Given the description of an element on the screen output the (x, y) to click on. 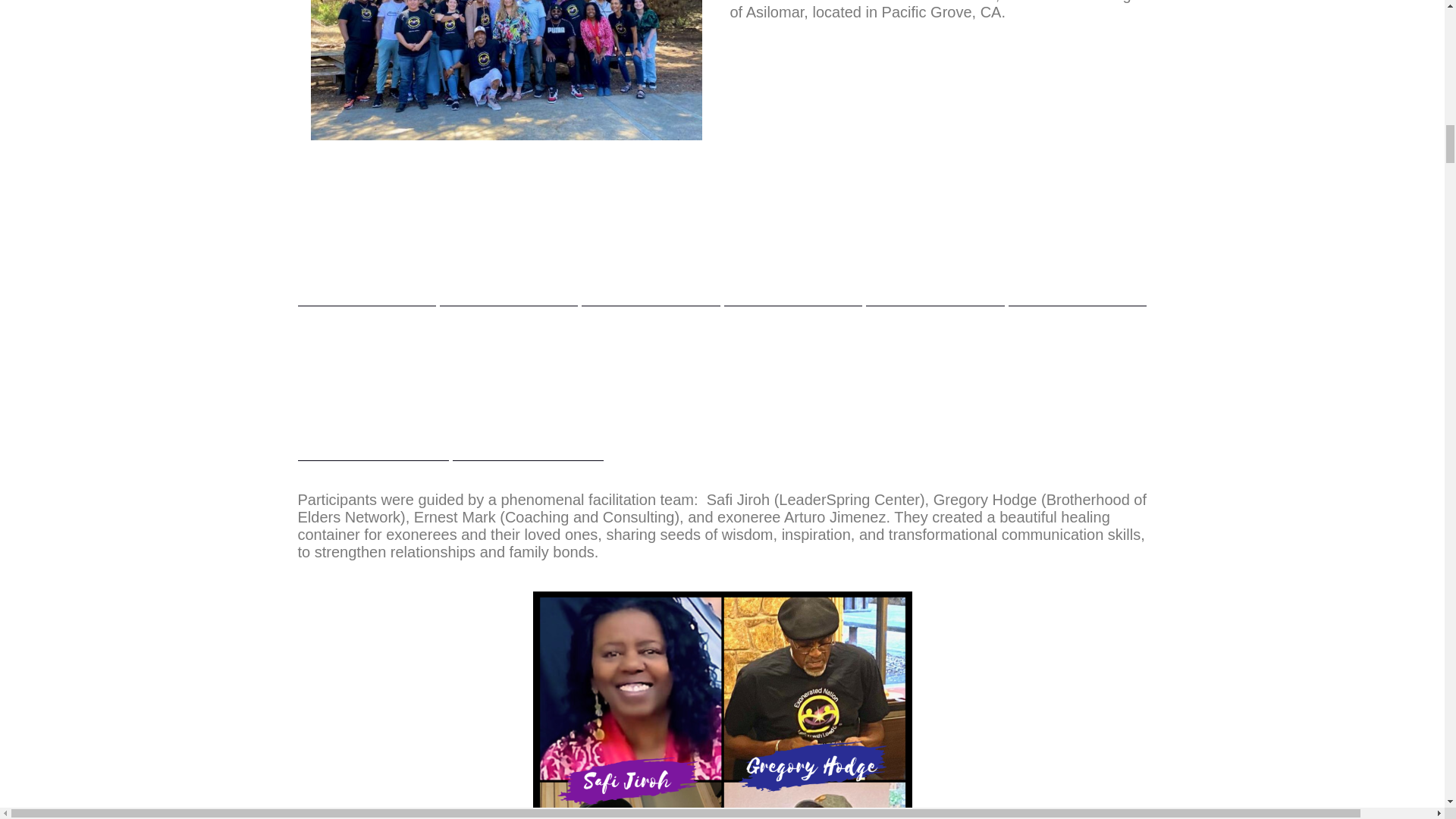
Facilitator Collage (721, 705)
